Given the description of an element on the screen output the (x, y) to click on. 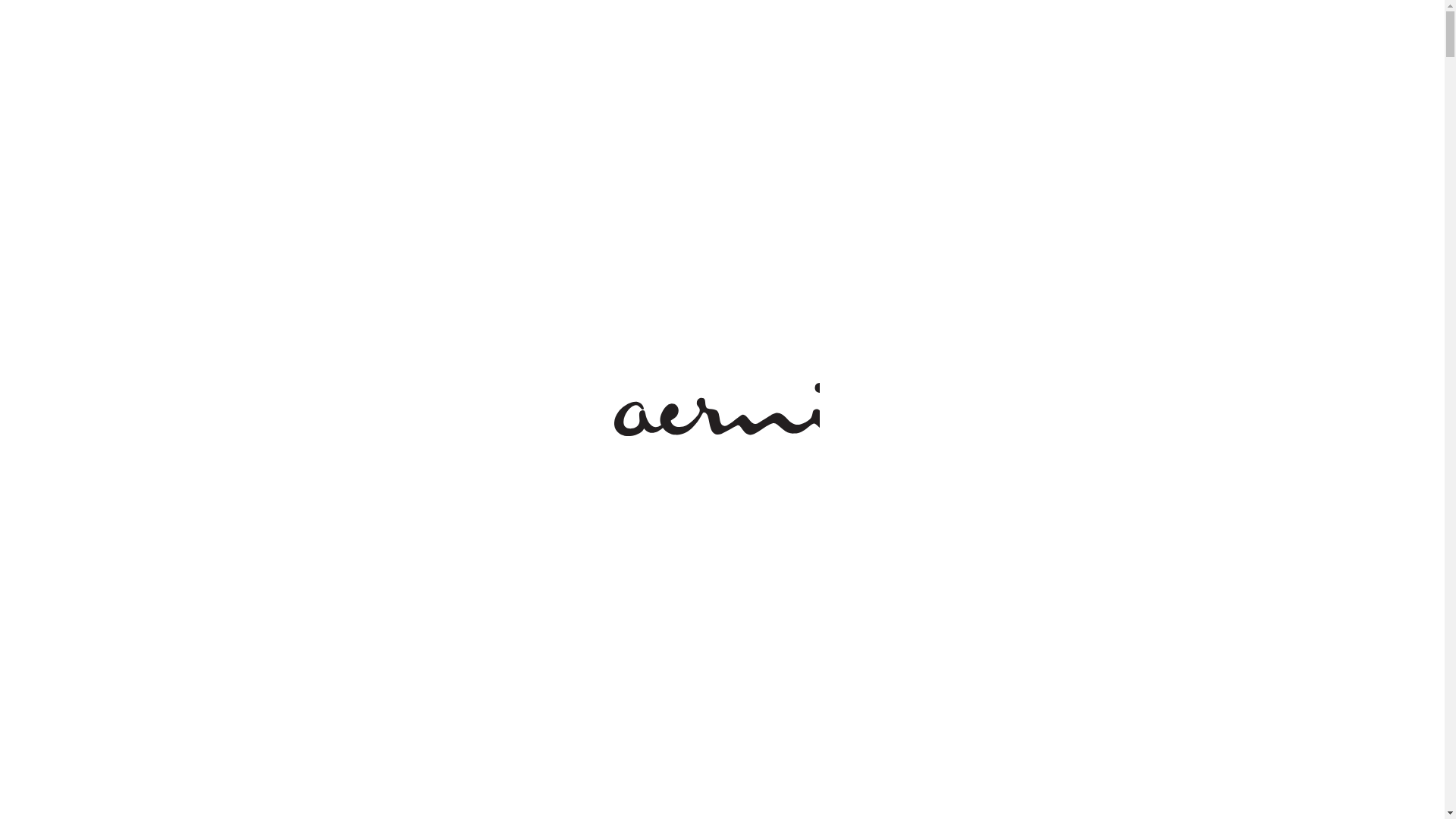
DE Element type: text (1356, 38)
HAAR Element type: text (1009, 64)
SPA Element type: text (1205, 64)
Versandkosten Element type: text (1017, 605)
SHOP Element type: text (1268, 64)
BAR Element type: text (1147, 64)
EN Element type: text (1387, 38)
SALON STORIES Element type: text (269, 17)
KLEID Element type: text (1082, 64)
